Given the description of an element on the screen output the (x, y) to click on. 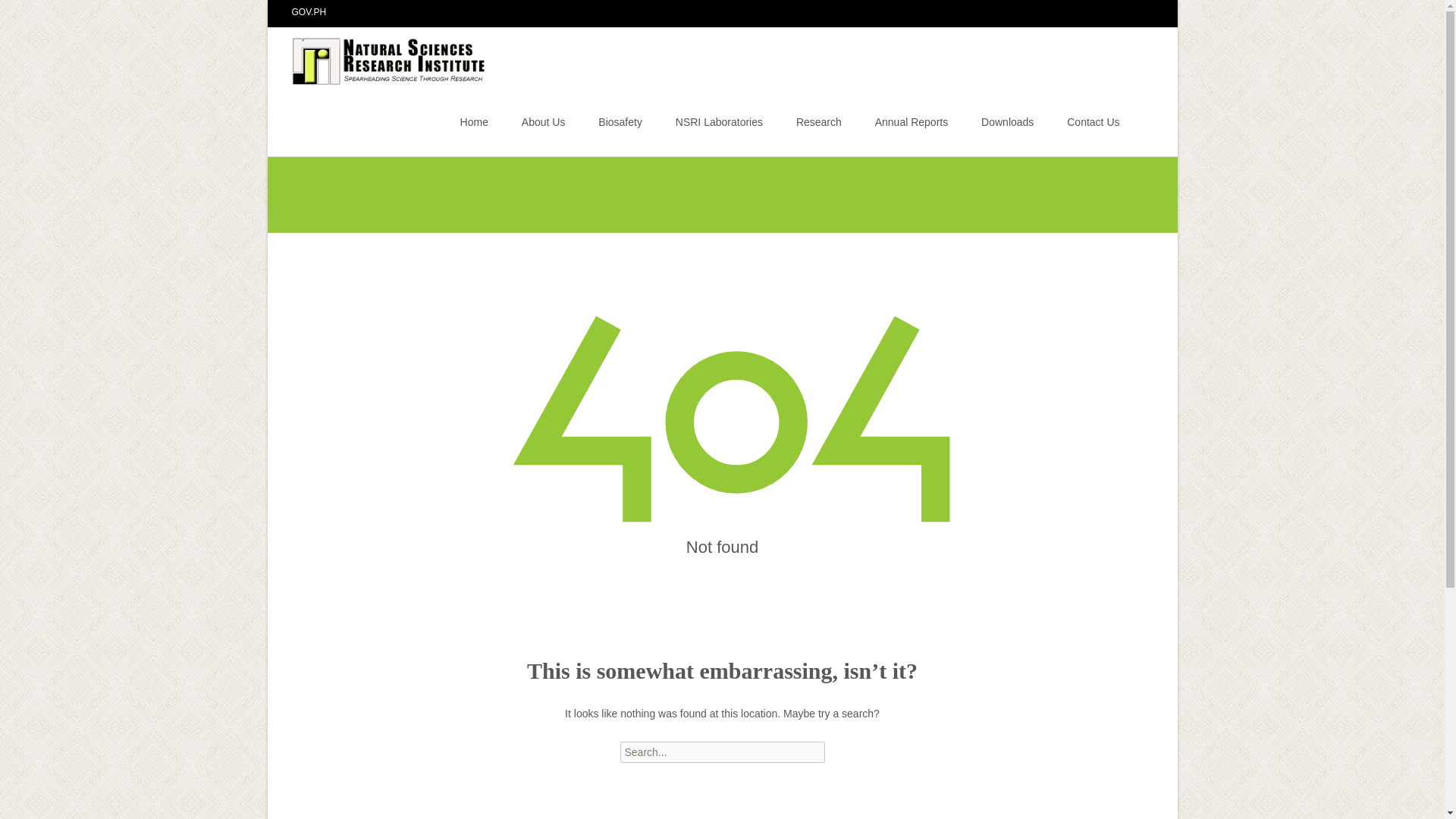
Search (18, 14)
Search (34, 14)
Search for: (722, 752)
NSRI Laboratories (718, 121)
Annual Reports (912, 121)
Natural Sciences Research Institute (378, 57)
Search for: (1139, 123)
GOV.PH (308, 11)
